Given the description of an element on the screen output the (x, y) to click on. 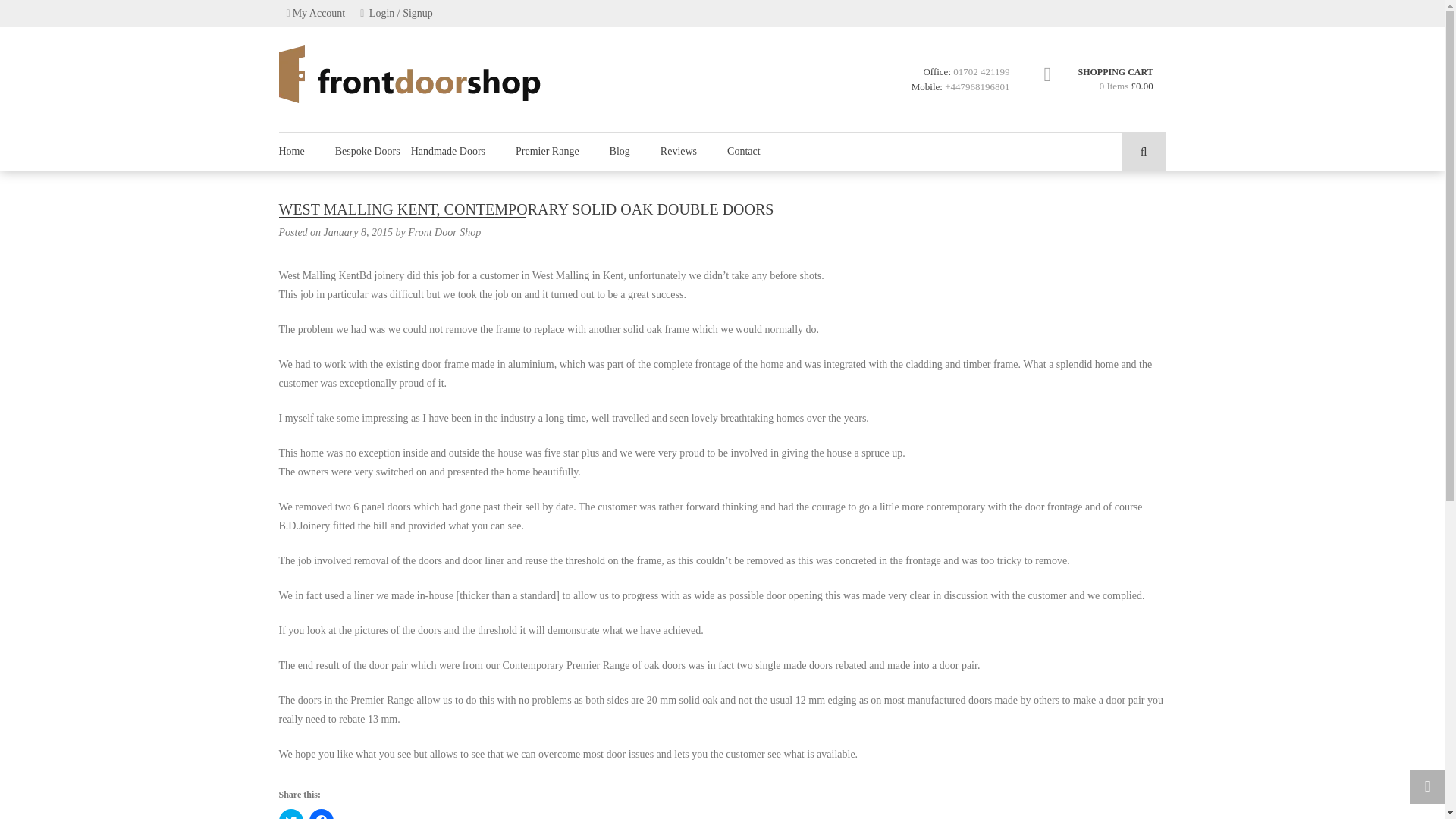
Blog (619, 151)
Click to share on Twitter (290, 814)
My Account (316, 13)
Click to share on Facebook (320, 814)
Front Door Shop (443, 232)
Home (299, 151)
Premier Range (547, 151)
Contact (743, 151)
January 8, 2015 (358, 232)
01702 421199 (981, 71)
